Given the description of an element on the screen output the (x, y) to click on. 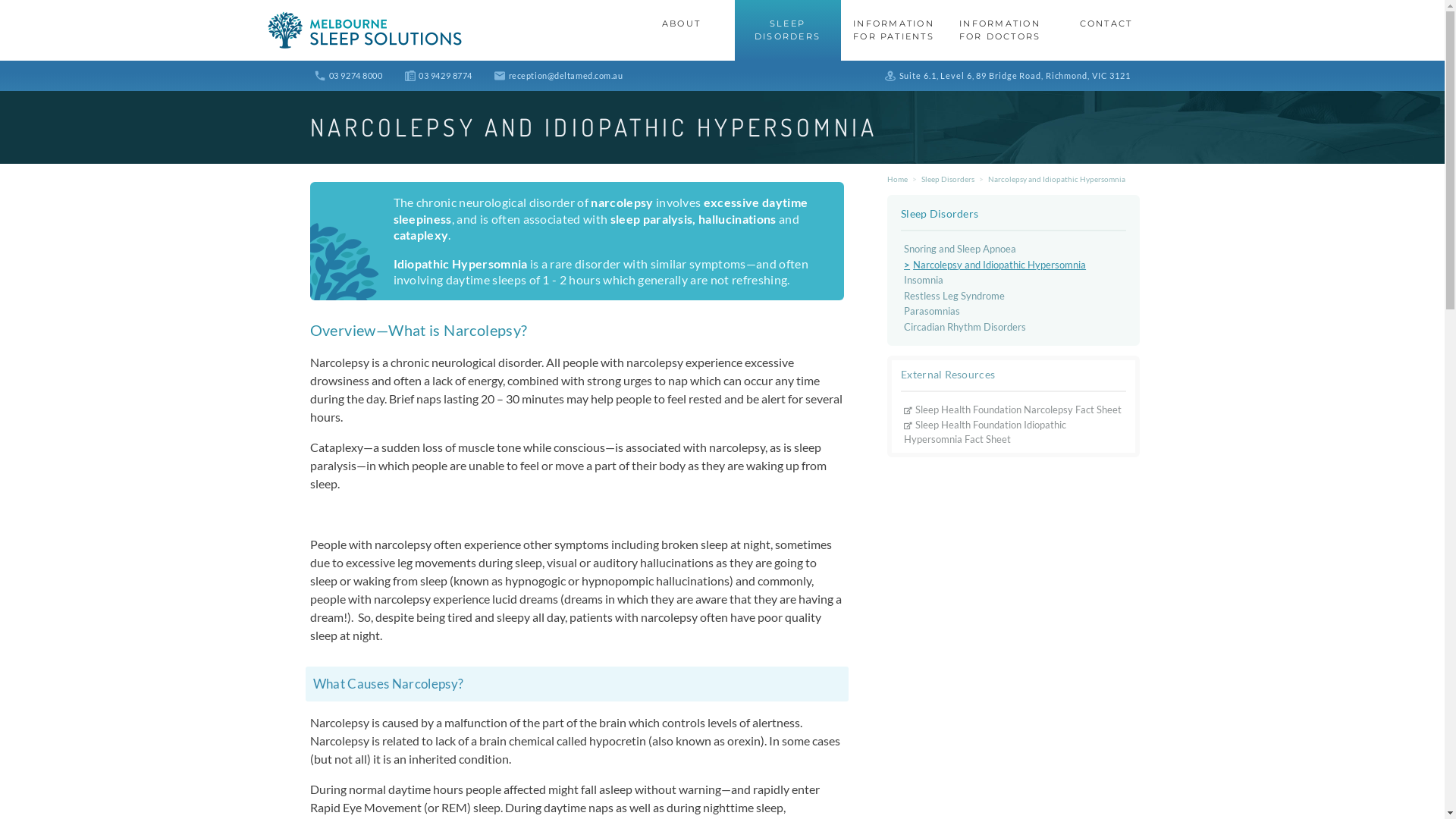
INFORMATION FOR PATIENTS Element type: text (893, 30)
03 9274 8000 Element type: text (347, 75)
Narcolepsy and Idiopathic Hypersomnia Element type: text (1056, 179)
Snoring and Sleep Apnoea Element type: text (959, 248)
Suite 6.1, Level 6, 89 Bridge Road, Richmond, VIC 3121 Element type: text (1007, 75)
Sleep Disorders Element type: text (947, 179)
INFORMATION FOR DOCTORS Element type: text (999, 30)
Home Element type: text (897, 179)
Sleep Disorders Element type: text (939, 213)
CONTACT Element type: text (1105, 30)
Narcolepsy and Idiopathic Hypersomnia Element type: text (994, 264)
Insomnia Element type: text (923, 279)
Parasomnias Element type: text (931, 310)
Sleep Health Foundation Idiopathic Hypersomnia Fact Sheet Element type: text (984, 431)
reception@deltamed.com.au Element type: text (558, 75)
SLEEP DISORDERS Element type: text (787, 30)
Circadian Rhythm Disorders Element type: text (964, 326)
03 9429 8774 Element type: text (437, 75)
Sleep Health Foundation Narcolepsy Fact Sheet Element type: text (1012, 409)
Restless Leg Syndrome Element type: text (953, 295)
ABOUT Element type: text (680, 30)
